Given the description of an element on the screen output the (x, y) to click on. 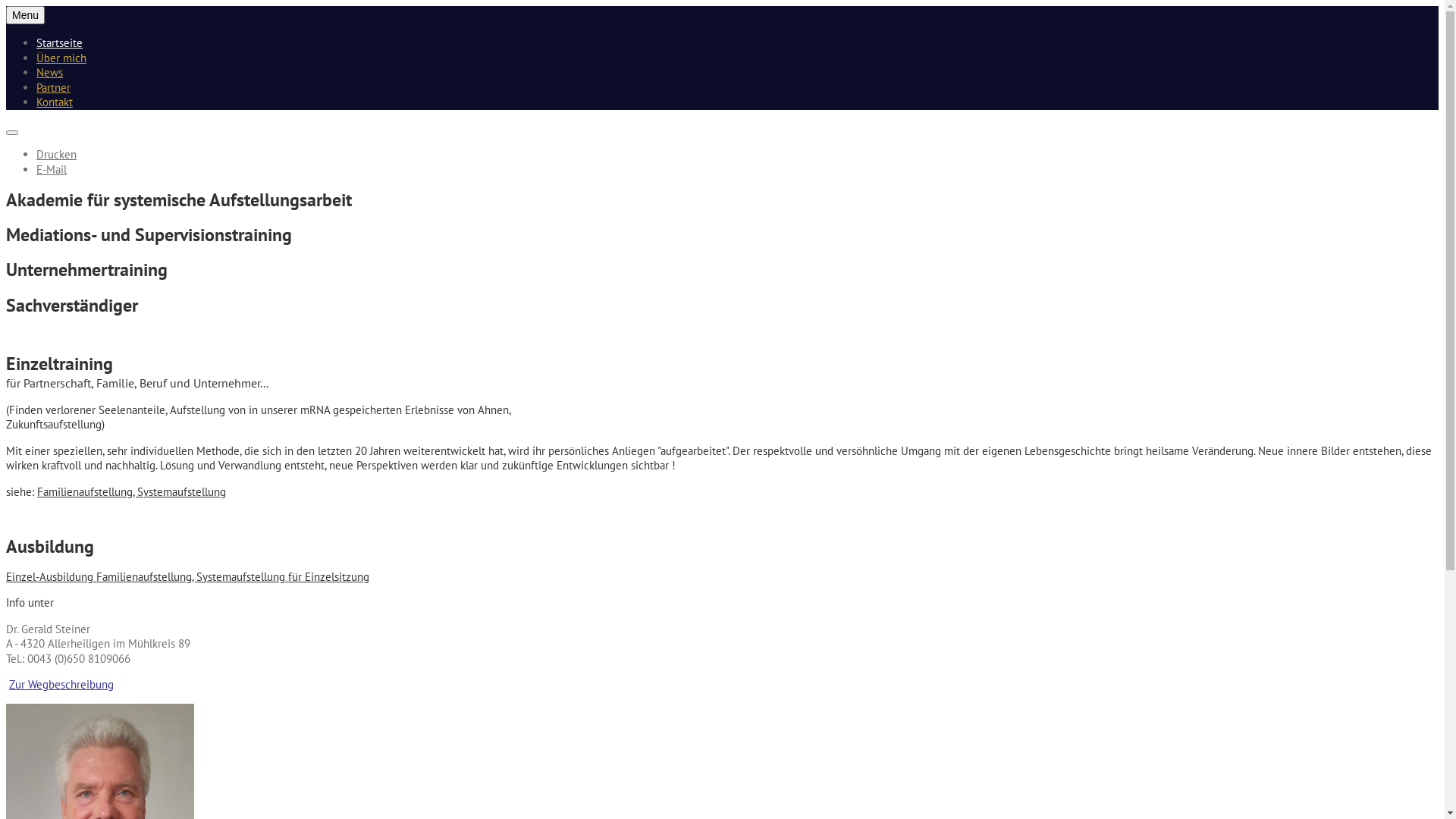
Startseite Element type: text (59, 42)
Familienaufstellung, Systemaufstellung Element type: text (131, 491)
Menu Element type: text (25, 15)
News Element type: text (49, 72)
Kontakt Element type: text (54, 101)
Zur Wegbeschreibung Element type: text (61, 684)
Partner Element type: text (53, 87)
E-Mail Element type: text (51, 169)
Drucken Element type: text (56, 154)
